Given the description of an element on the screen output the (x, y) to click on. 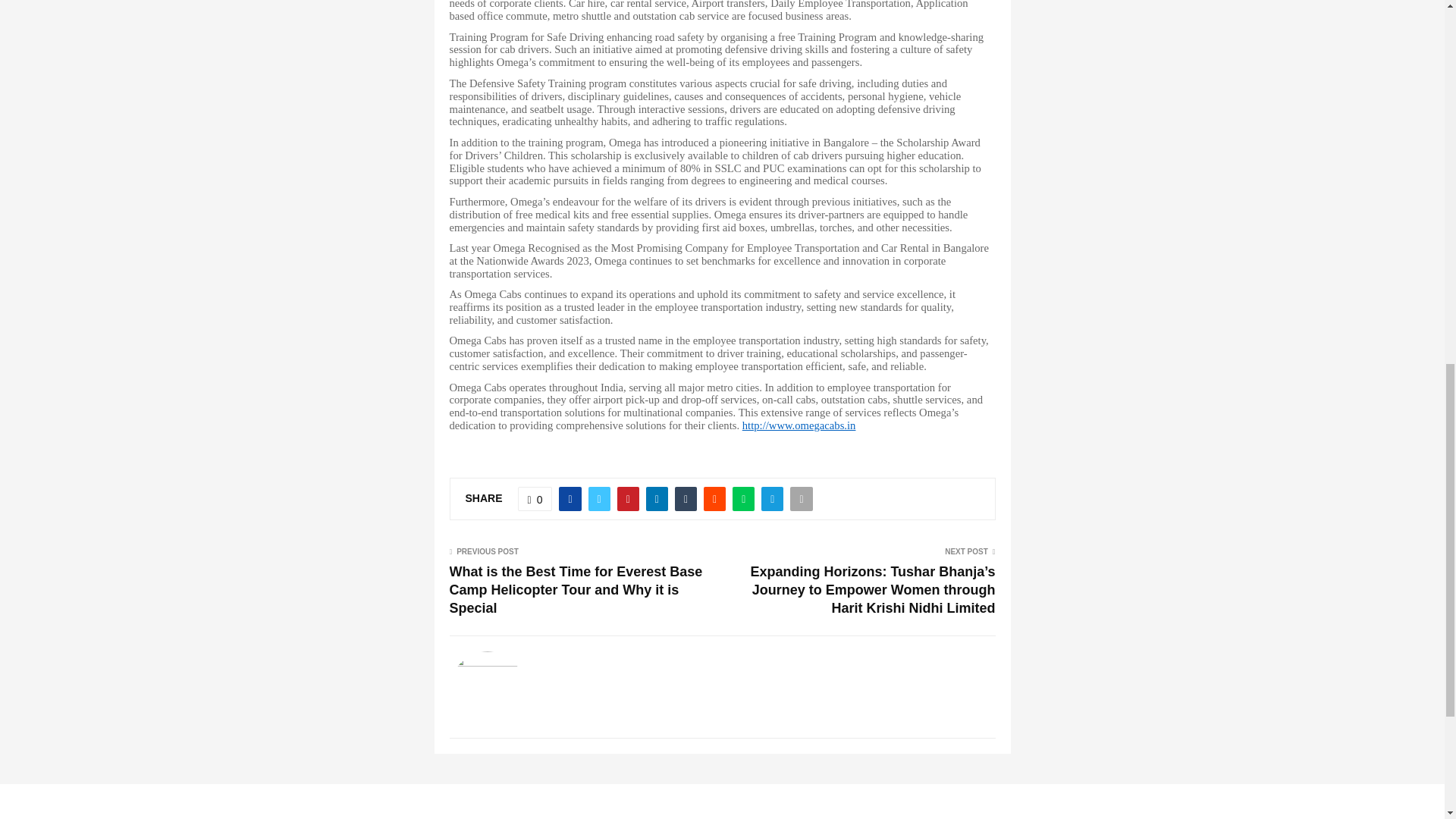
Like (535, 498)
0 (535, 498)
